Given the description of an element on the screen output the (x, y) to click on. 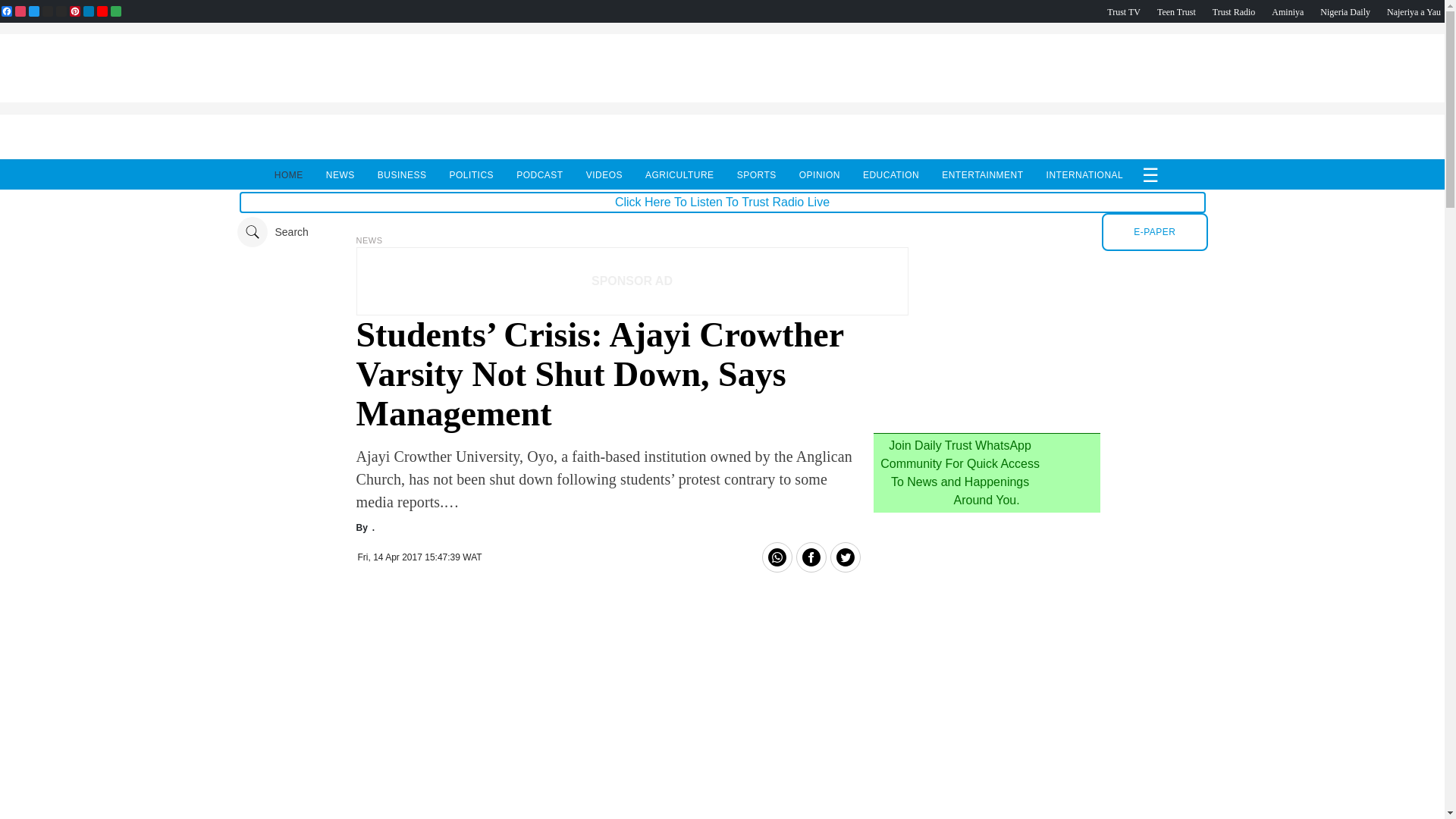
Aminiya (1287, 11)
HOME (288, 174)
Trust TV Live (1123, 11)
YouTube (102, 10)
E-PAPER (1154, 231)
Aminiya Online (1287, 11)
TikTok (61, 10)
Pinterest (74, 10)
Trust Radio (1233, 11)
Search (271, 232)
Instagram (20, 10)
Search (271, 232)
Saurari Shirye Shiryenmu (1414, 11)
Dailytrust (722, 231)
E-Paper Subscription (1154, 231)
